Given the description of an element on the screen output the (x, y) to click on. 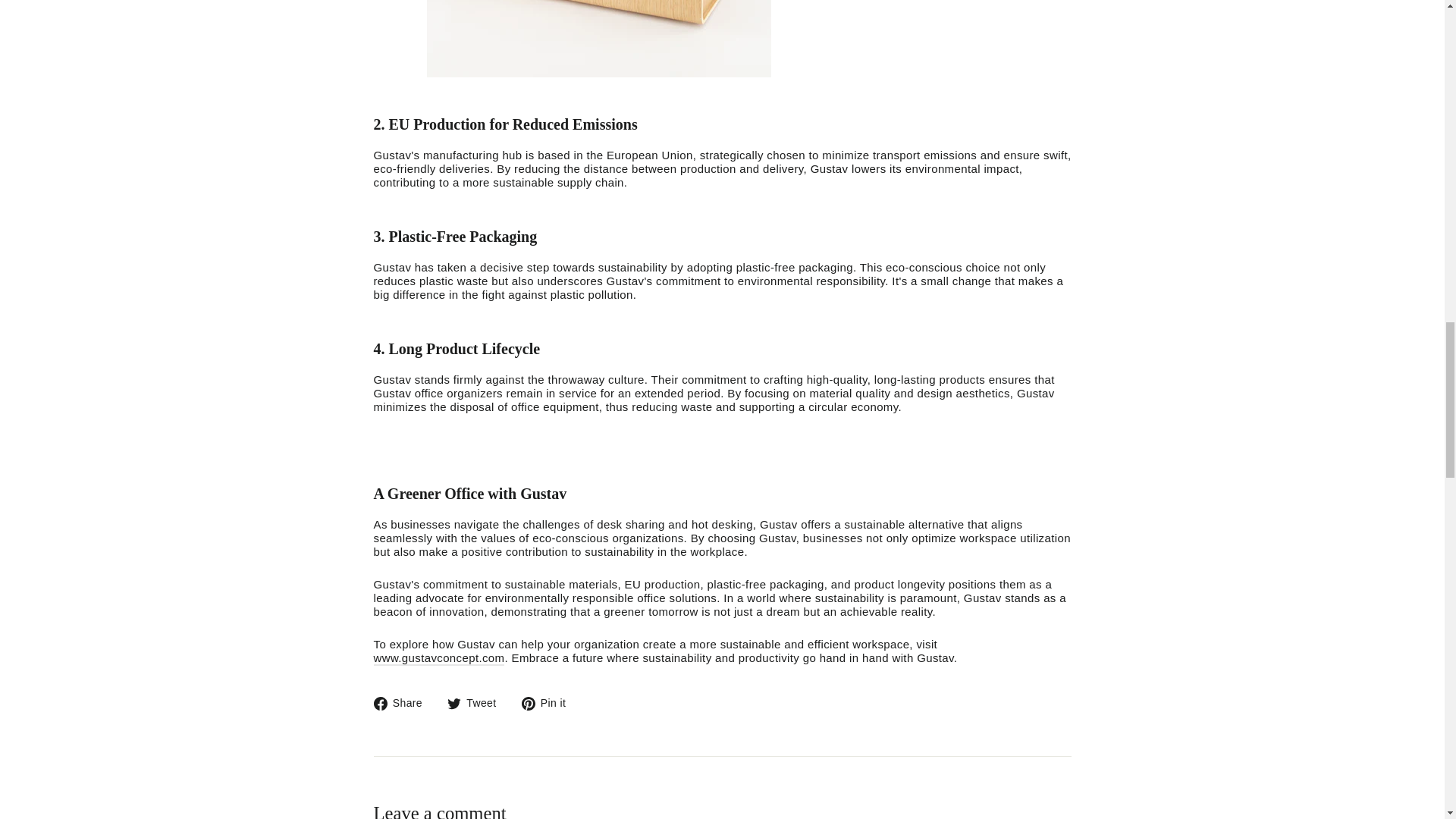
www.gustavconcept.com (437, 658)
Tweet on Twitter (549, 703)
Share on Facebook (477, 703)
twitter (402, 703)
Pin on Pinterest (402, 703)
